Given the description of an element on the screen output the (x, y) to click on. 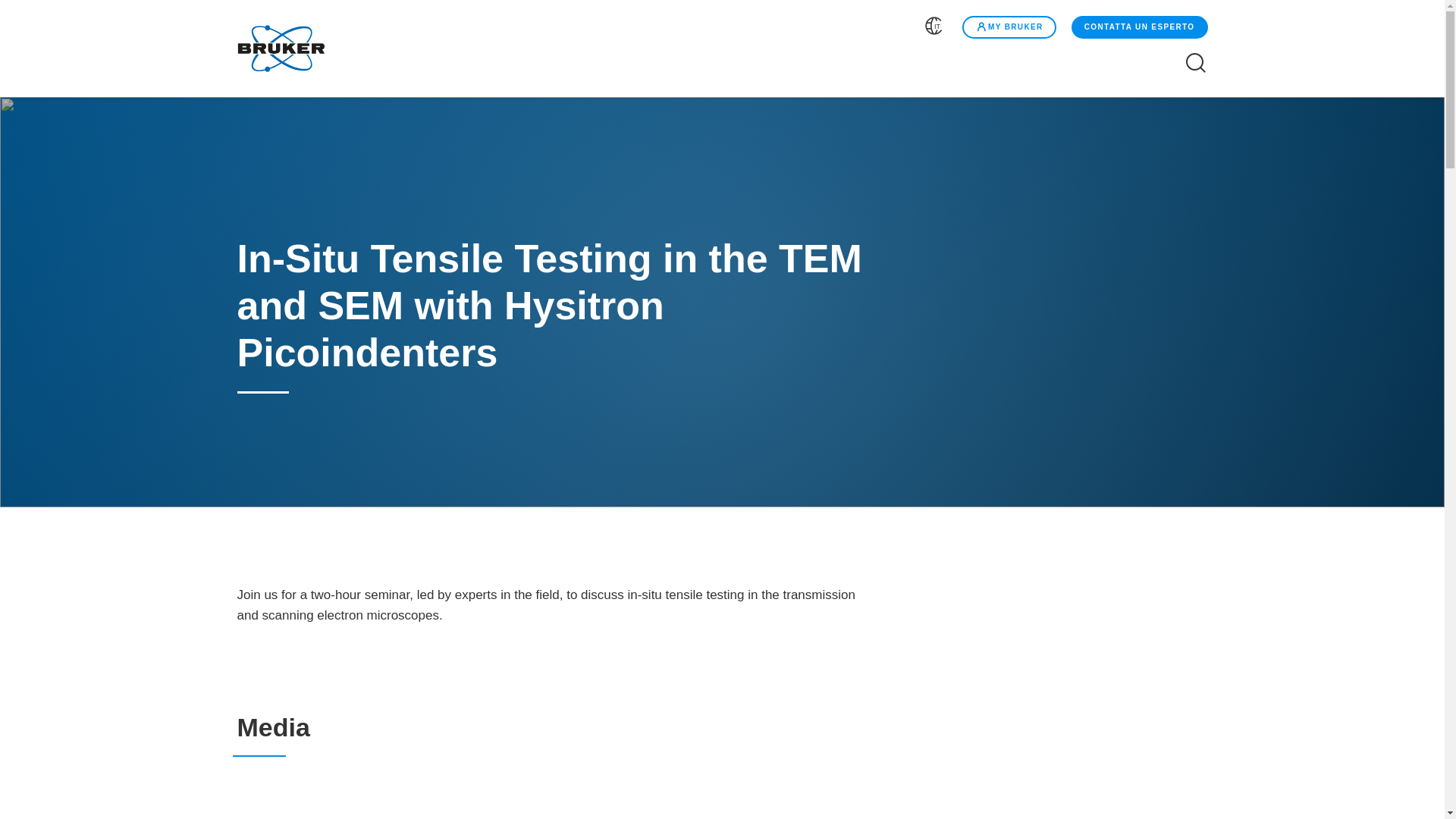
CONTATTA UN ESPERTO (1139, 26)
MY BRUKER (1009, 26)
CONTATTA UN ESPERTO (1137, 27)
